Given the description of an element on the screen output the (x, y) to click on. 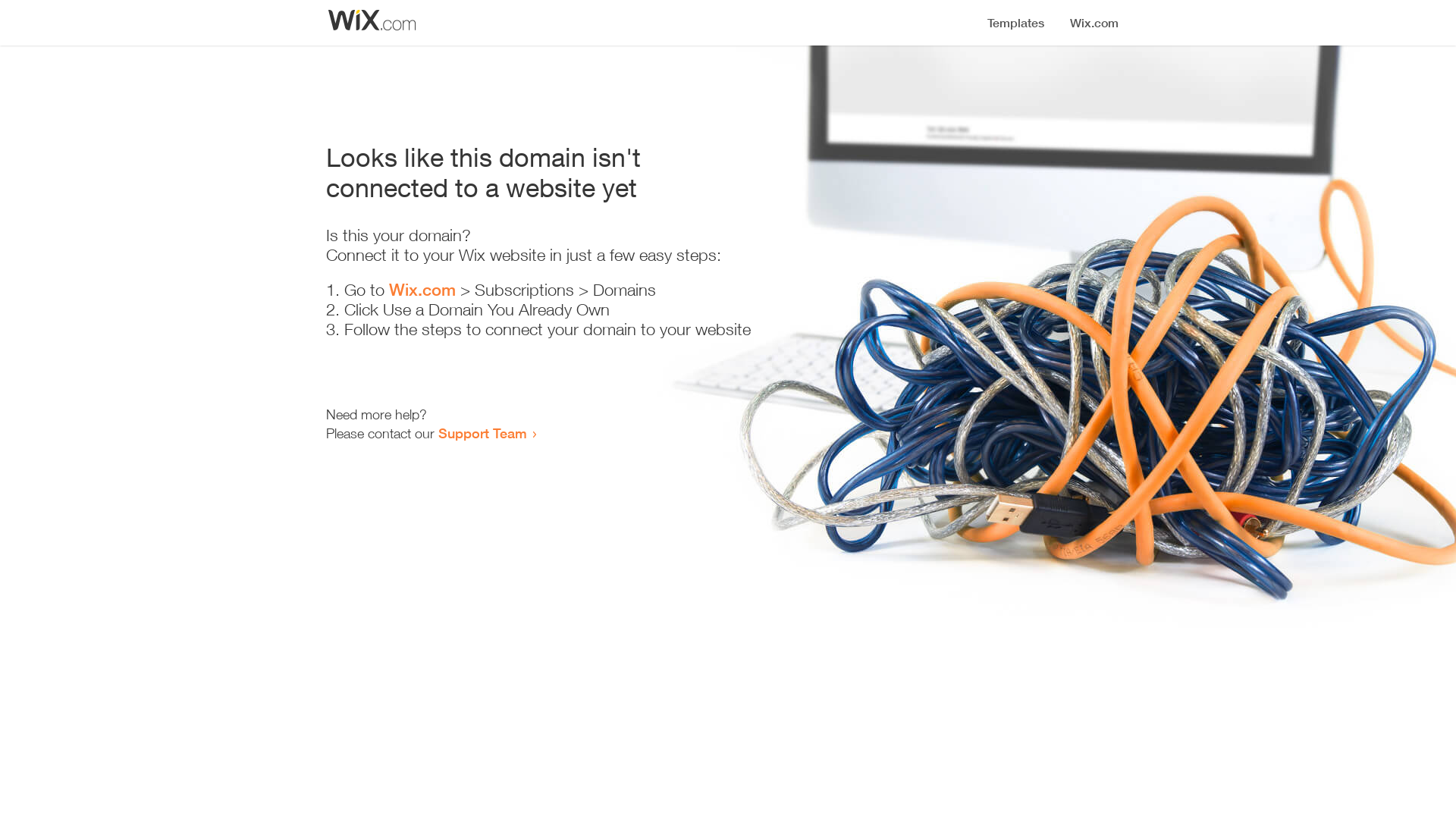
Wix.com Element type: text (422, 289)
Support Team Element type: text (482, 432)
